Given the description of an element on the screen output the (x, y) to click on. 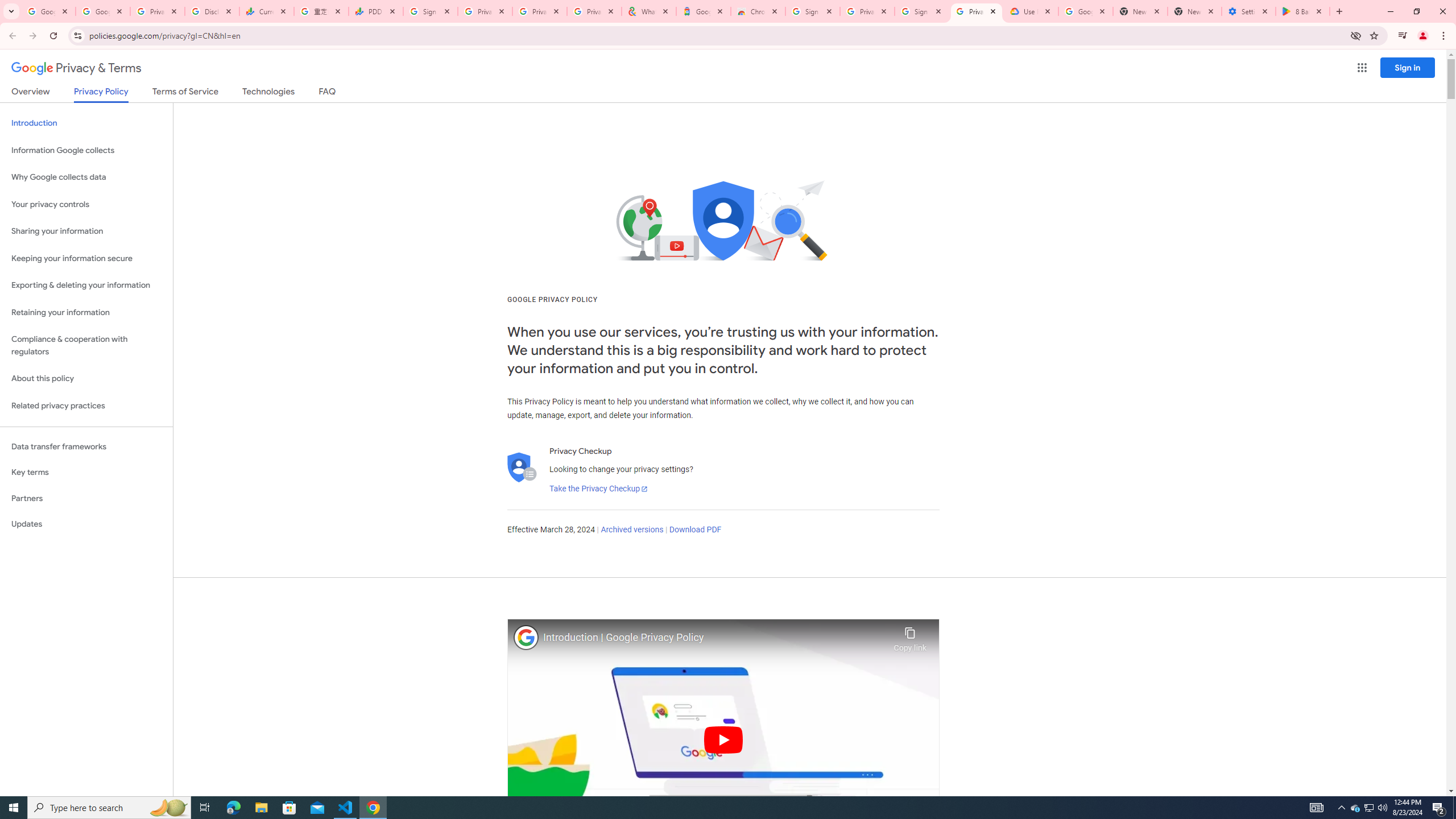
Introduction | Google Privacy Policy (715, 637)
Chrome Web Store - Color themes by Chrome (757, 11)
Privacy Checkup (539, 11)
Play (723, 739)
